Given the description of an element on the screen output the (x, y) to click on. 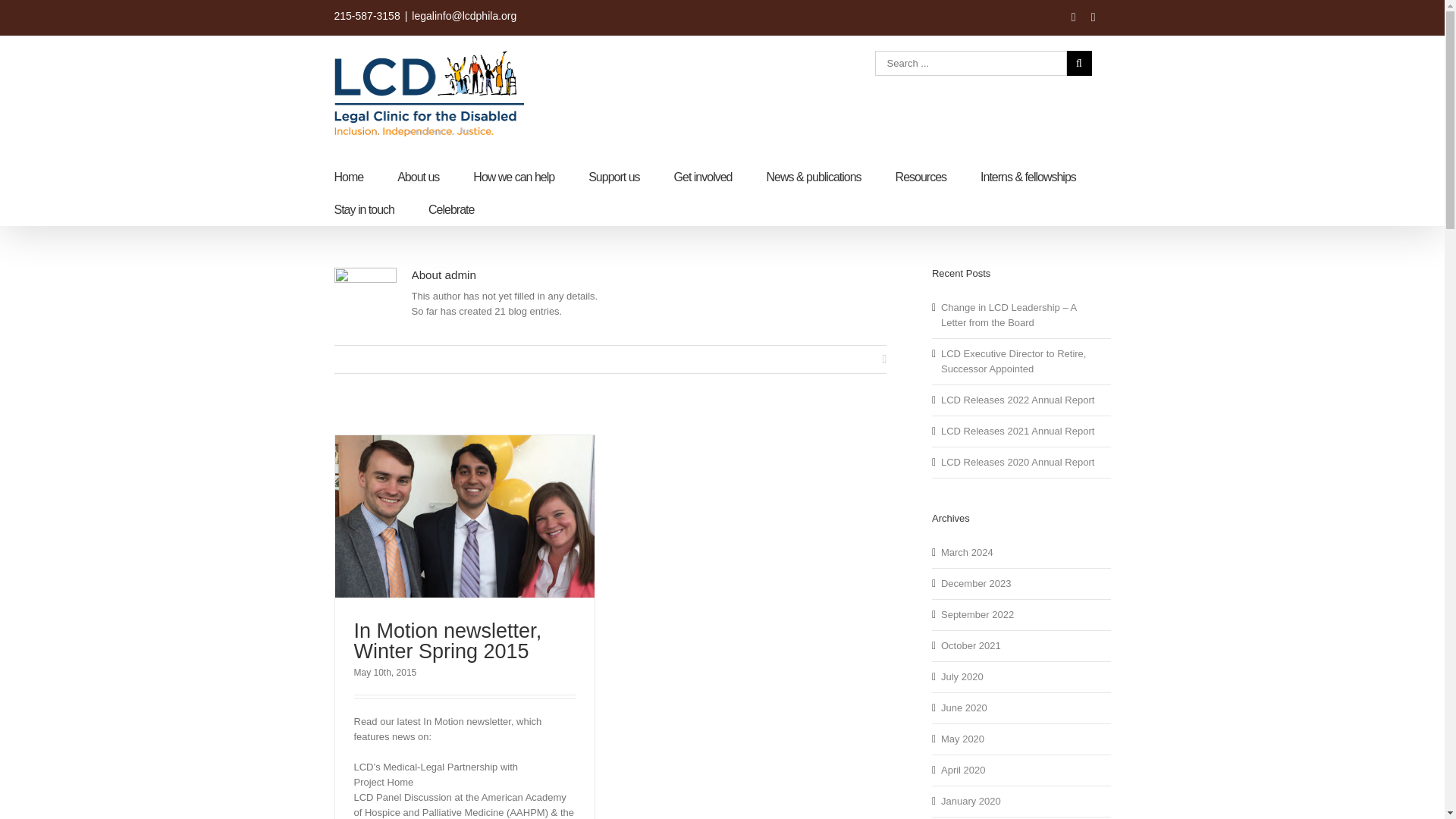
In Motion newsletter, Winter Spring 2015 (447, 640)
About us (418, 175)
Stay in touch (363, 208)
Email Address (464, 15)
Home (347, 175)
Celebrate (451, 208)
Type search term here (971, 63)
How we can help (513, 175)
Resources (920, 175)
Get involved (703, 175)
